Given the description of an element on the screen output the (x, y) to click on. 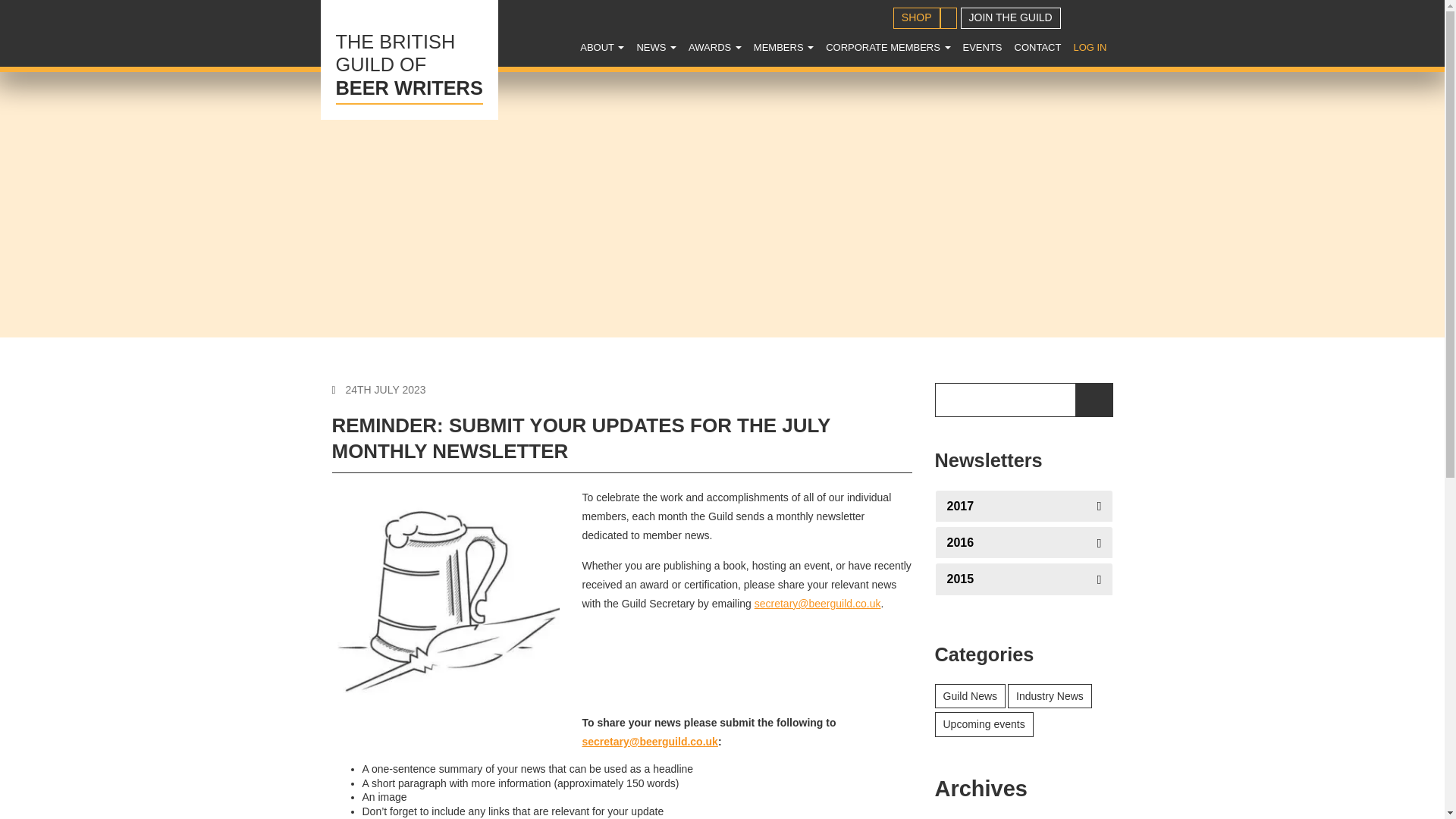
About (601, 47)
Awards (715, 47)
CONTACT (1038, 47)
News (656, 47)
LOG IN (1089, 47)
Members (783, 47)
CORPORATE MEMBERS (887, 47)
JOIN THE GUILD (1010, 17)
MEMBERS (408, 59)
NEWS (783, 47)
SHOP (656, 47)
AWARDS (916, 17)
EVENTS (715, 47)
ABOUT (982, 47)
